Given the description of an element on the screen output the (x, y) to click on. 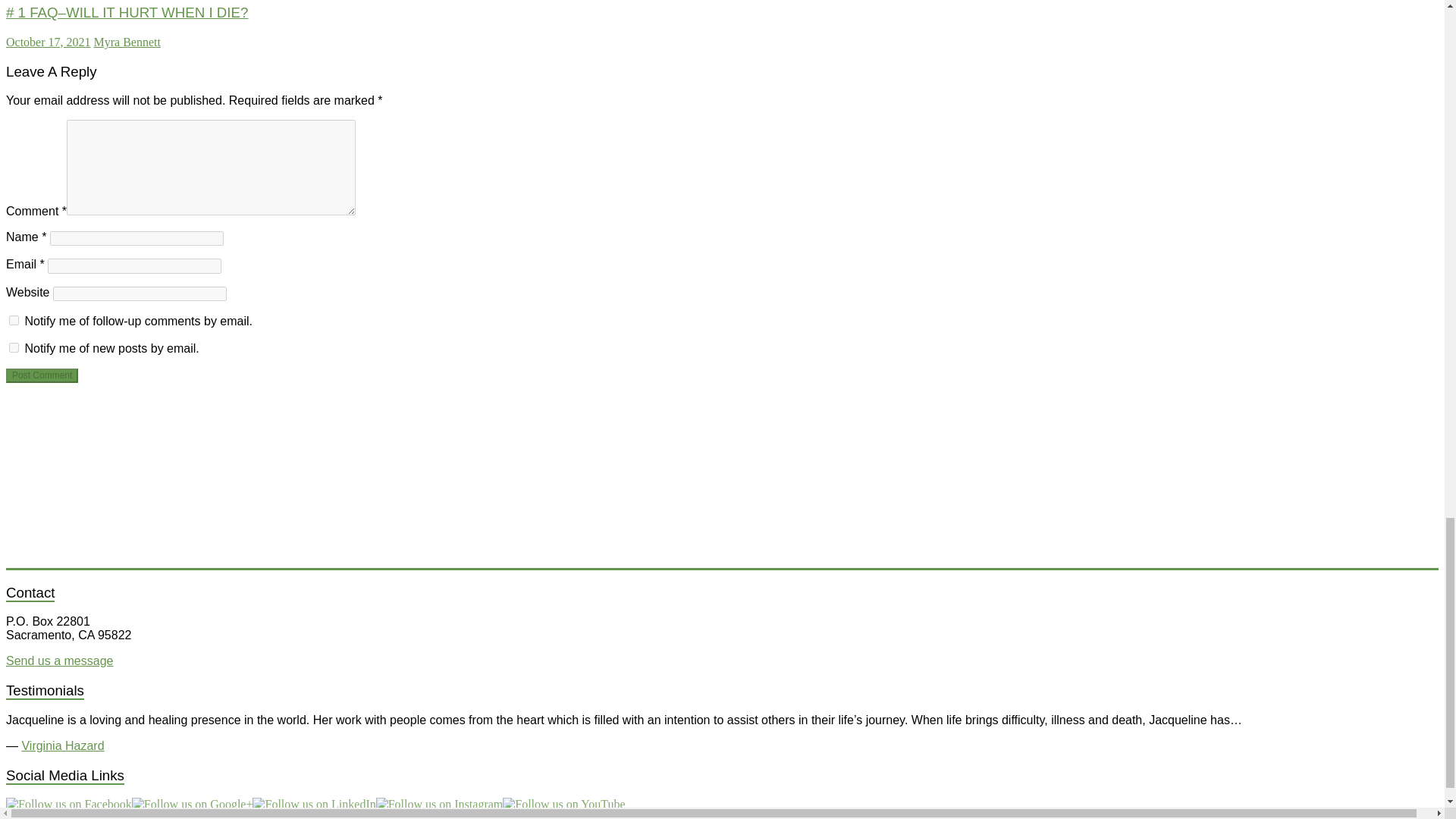
October 17, 2021 (47, 42)
Post Comment (41, 375)
subscribe (13, 320)
subscribe (13, 347)
Post Comment (41, 375)
Myra Bennett (127, 42)
